Given the description of an element on the screen output the (x, y) to click on. 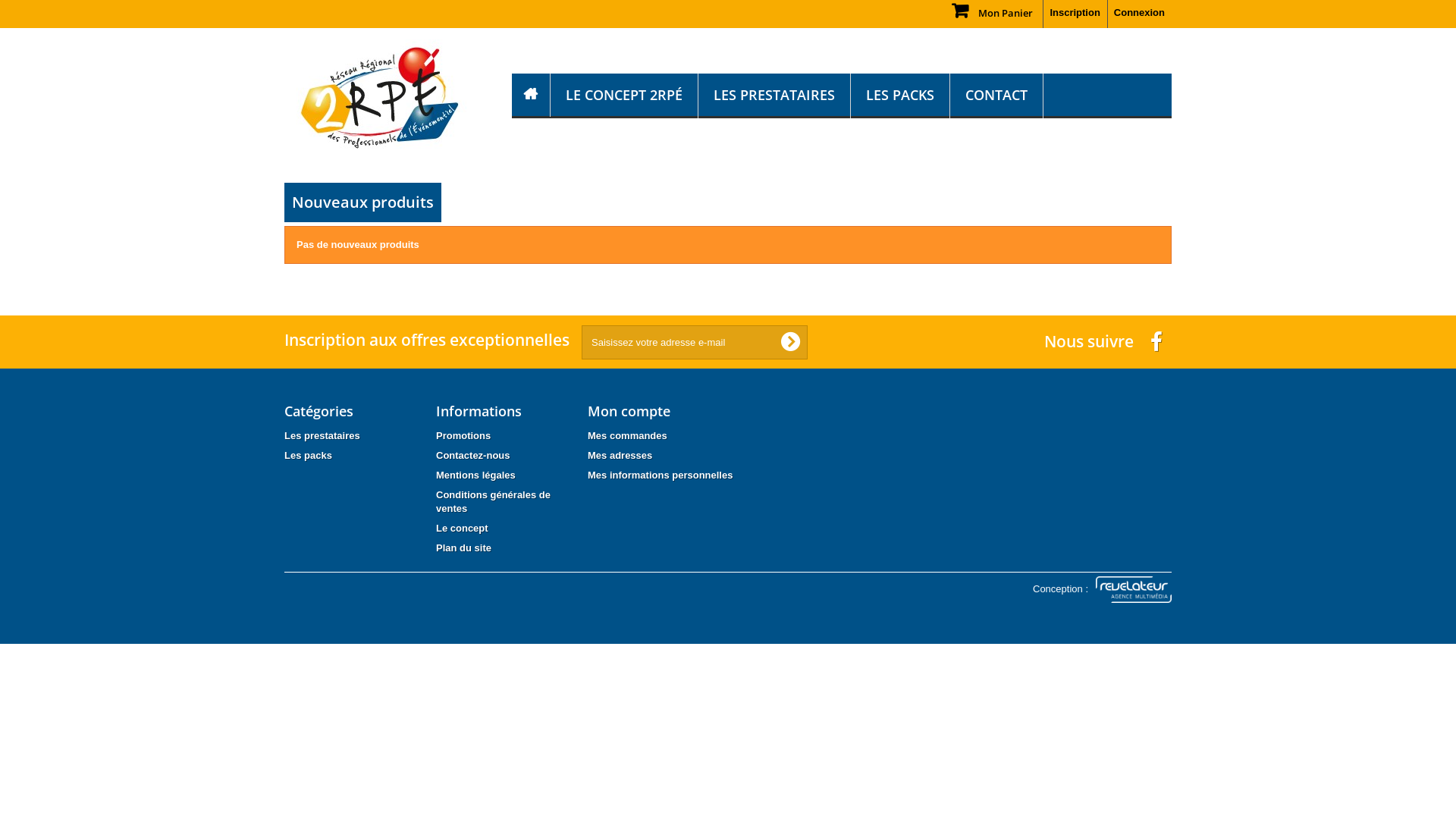
LES PRESTATAIRES Element type: text (774, 95)
Inscription Element type: text (1074, 14)
Les packs Element type: text (308, 455)
CONTACT Element type: text (996, 95)
LES PACKS Element type: text (899, 95)
2RPE Element type: hover (386, 98)
Mon compte Element type: text (628, 410)
Mon Panier Element type: text (996, 10)
Promotions Element type: text (463, 435)
Connexion Element type: text (1139, 14)
Contactez-nous Element type: text (473, 455)
Mes commandes Element type: text (627, 435)
Mes adresses Element type: text (619, 455)
Plan du site Element type: text (463, 547)
Le concept Element type: text (462, 527)
Les prestataires Element type: text (322, 435)
Mes informations personnelles Element type: text (659, 474)
